Given the description of an element on the screen output the (x, y) to click on. 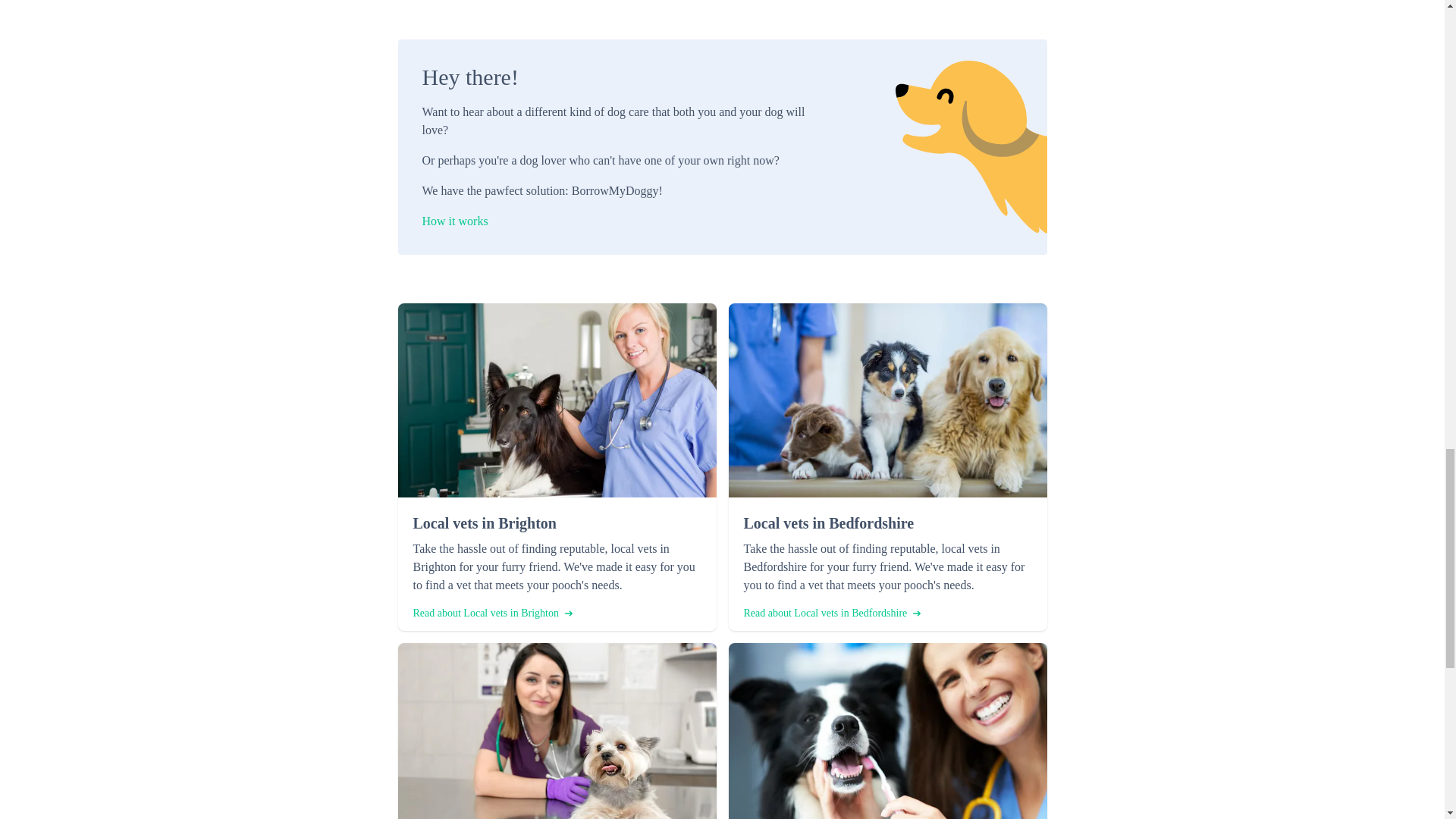
Local vets in Brighton (556, 522)
Local vets in Bedfordshire (886, 522)
How it works (614, 221)
Read about Local vets in Bedfordshire (831, 613)
Read about Local vets in Brighton (492, 613)
